Given the description of an element on the screen output the (x, y) to click on. 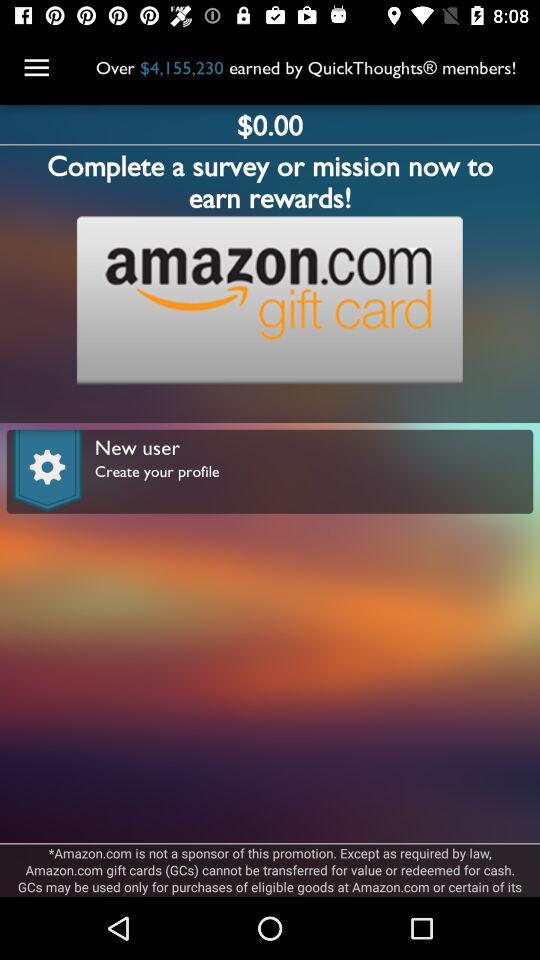
launch item next to over 4 155 (36, 68)
